Given the description of an element on the screen output the (x, y) to click on. 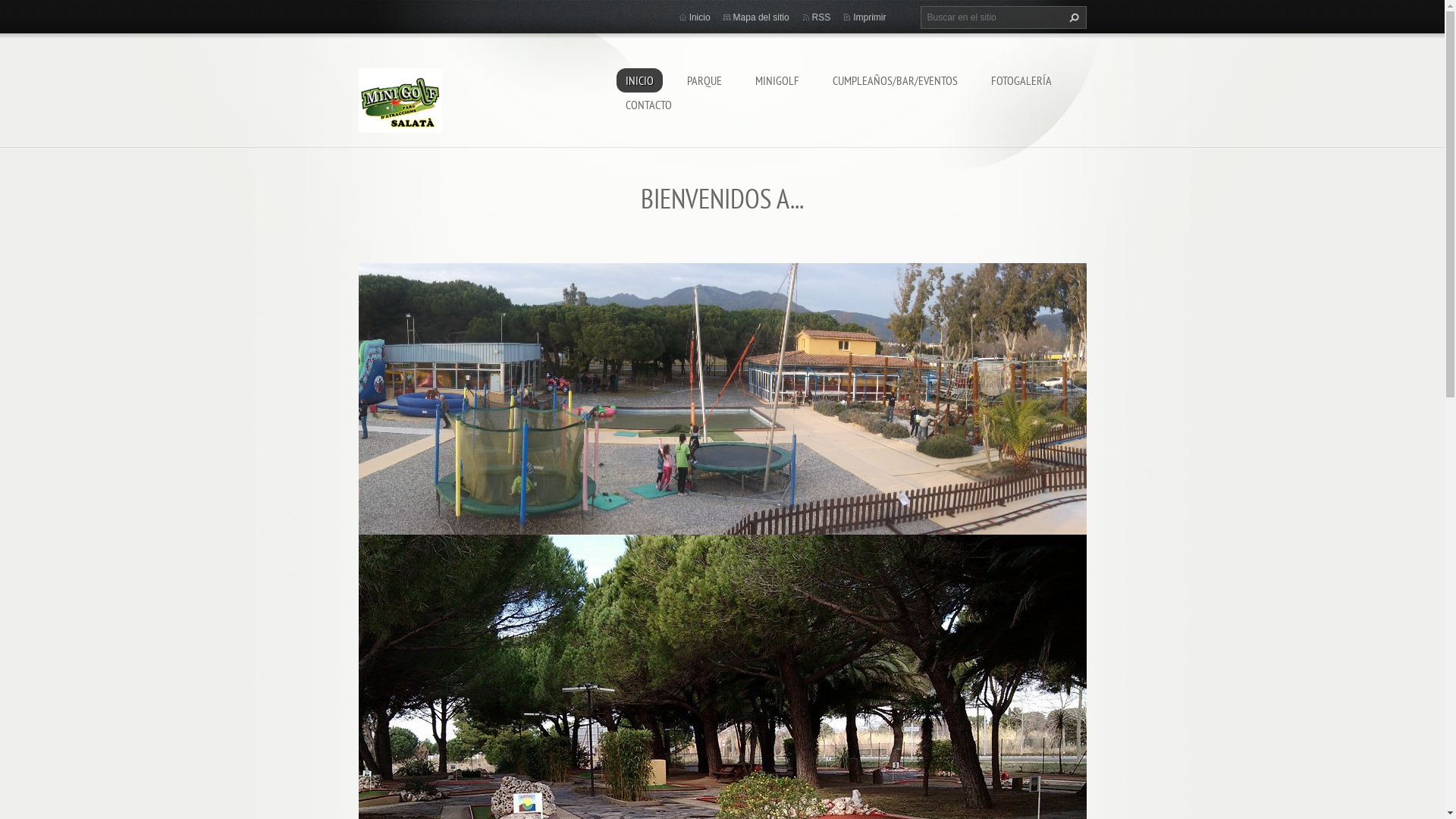
PARQUE Element type: text (704, 80)
Buscar Element type: text (1071, 17)
CONTACTO Element type: text (647, 104)
Imprimir Element type: text (869, 17)
RSS Element type: text (821, 17)
INICIO Element type: text (638, 80)
Mapa del sitio Element type: text (761, 17)
MINIGOLF Element type: text (777, 80)
Inicio Element type: text (699, 17)
